Given the description of an element on the screen output the (x, y) to click on. 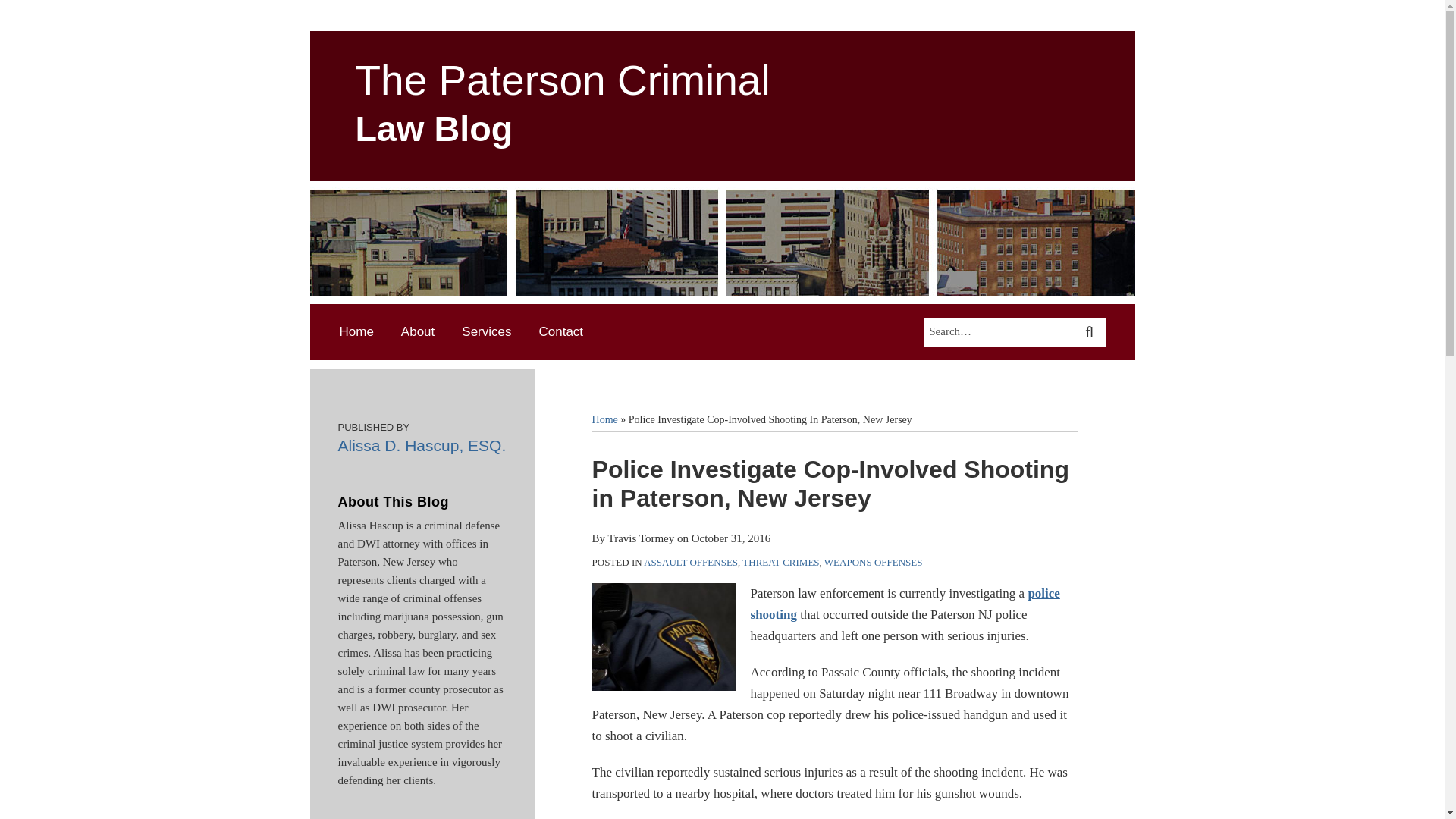
ASSAULT OFFENSES (690, 562)
The Paterson Criminal Law Blog (562, 102)
About (417, 331)
Alissa D. Hascup, ESQ. (421, 445)
Contact (560, 331)
Services (486, 331)
Paterson NJ Aggravated Assault Lawyers (663, 636)
Home (356, 331)
THREAT CRIMES (780, 562)
WEAPONS OFFENSES (873, 562)
